Given the description of an element on the screen output the (x, y) to click on. 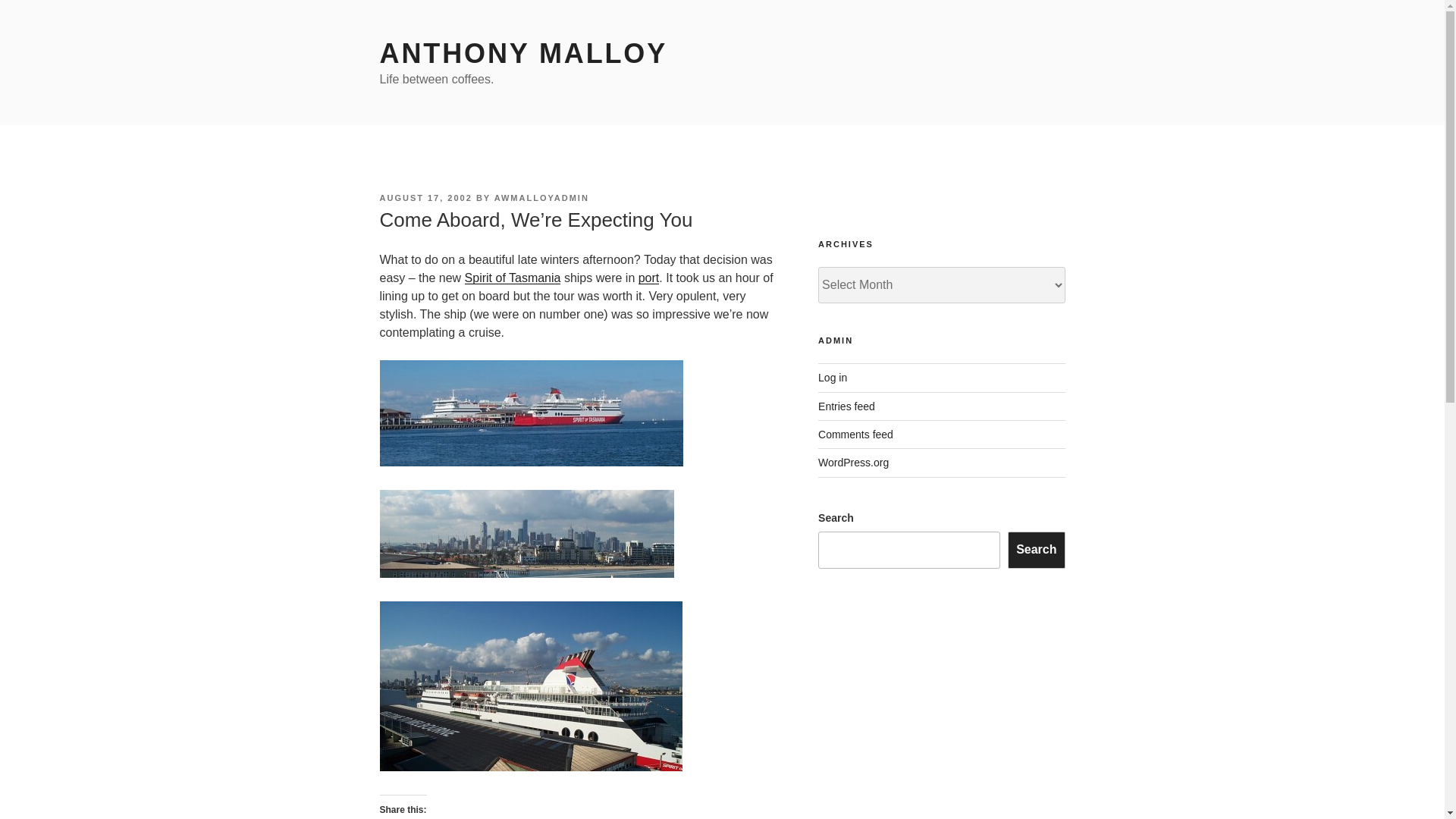
Entries feed (846, 406)
AWMALLOYADMIN (542, 197)
WordPress.org (853, 462)
Search (1035, 549)
AUGUST 17, 2002 (424, 197)
port (649, 277)
Comments feed (855, 434)
Spirit of Tasmania (512, 277)
ANTHONY MALLOY (522, 52)
Log in (832, 377)
